Given the description of an element on the screen output the (x, y) to click on. 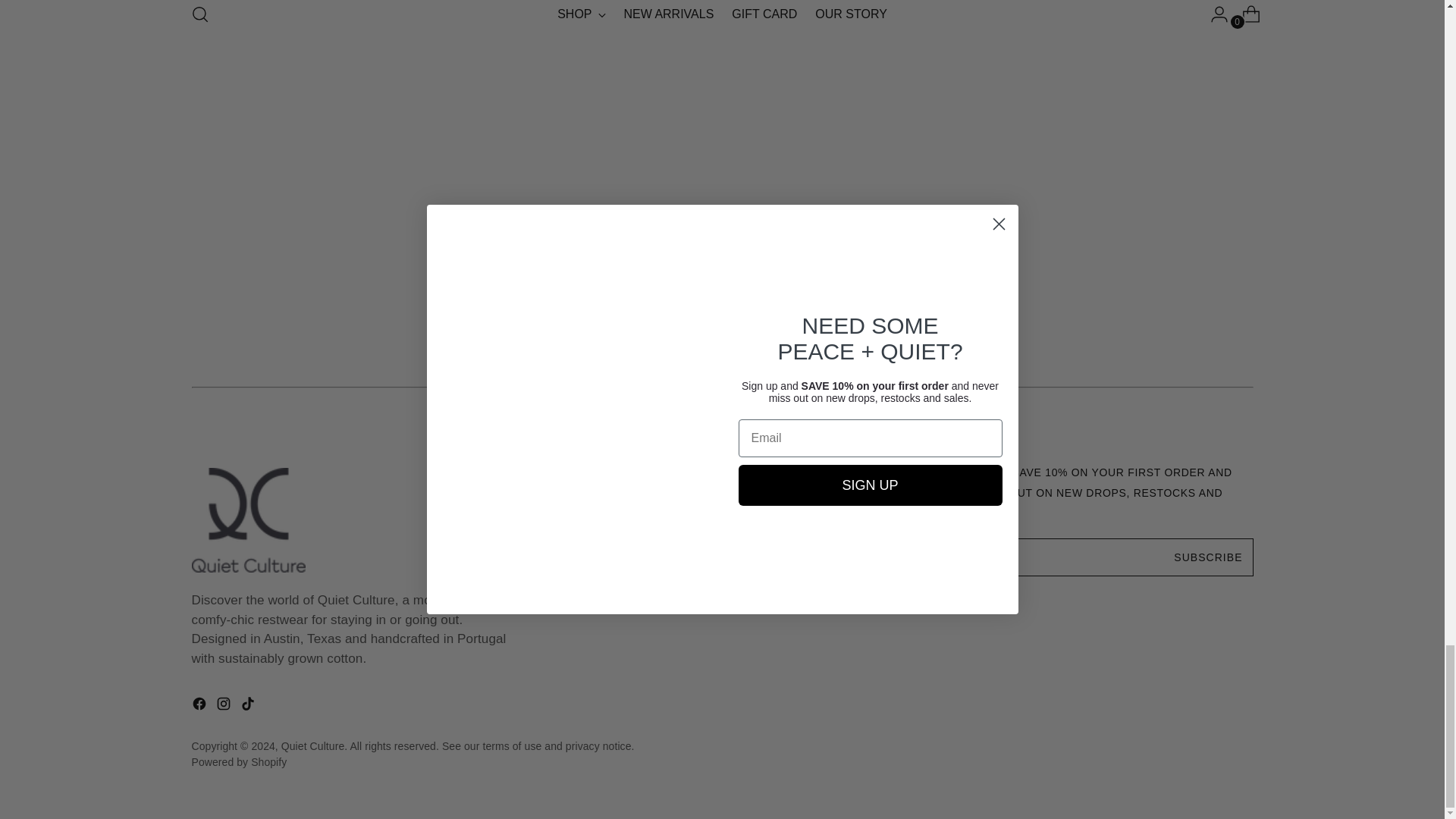
Quiet Culture on Instagram (223, 706)
Quiet Culture on Tiktok (248, 706)
Quiet Culture on Facebook (199, 706)
